Given the description of an element on the screen output the (x, y) to click on. 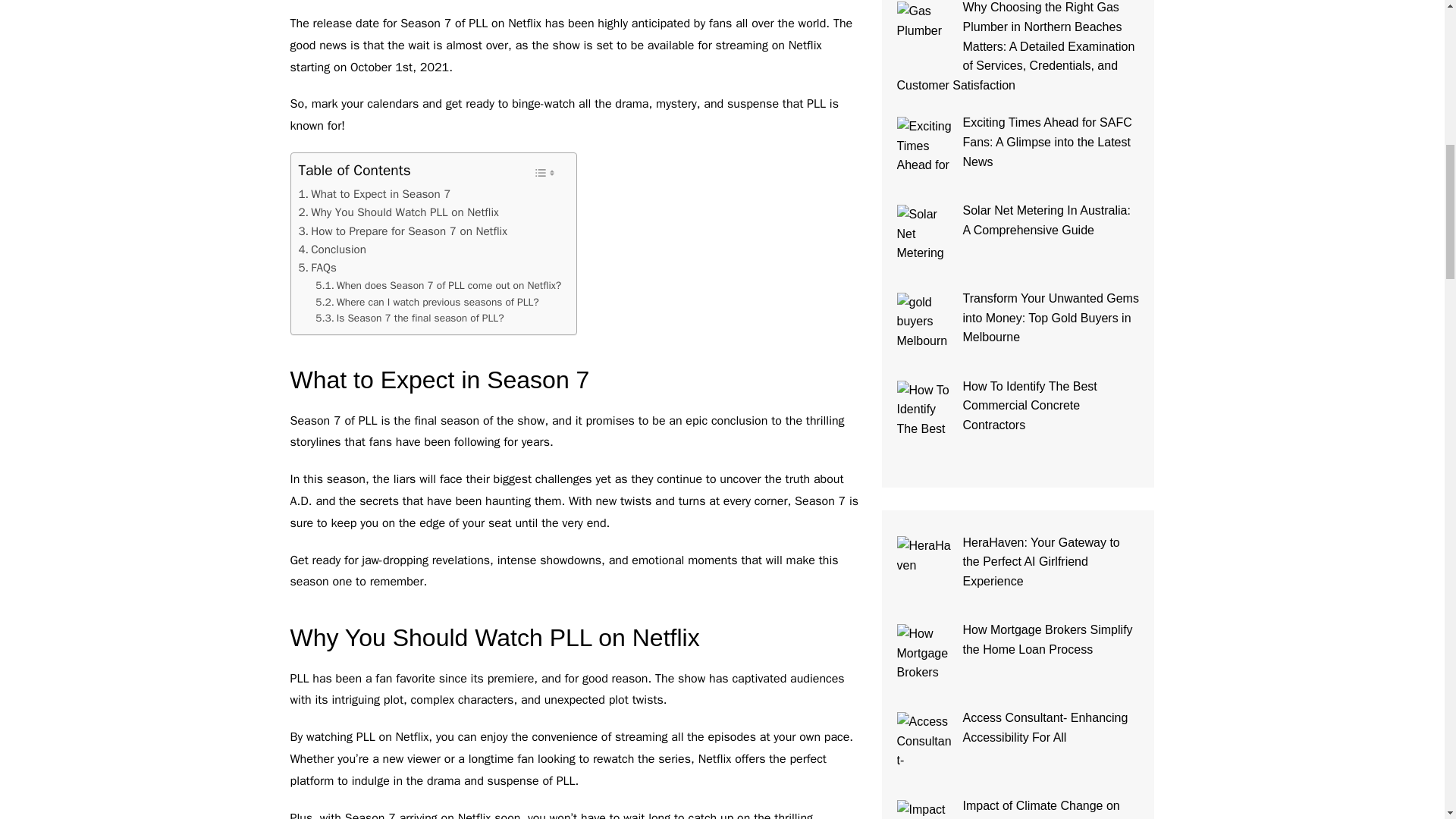
How to Prepare for Season 7 on Netflix (402, 230)
Is Season 7 the final season of PLL? (409, 318)
FAQs (317, 267)
Conclusion (332, 249)
FAQs (317, 267)
Where can I watch previous seasons of PLL? (426, 302)
Conclusion (332, 249)
Why You Should Watch PLL on Netflix (398, 212)
How to Prepare for Season 7 on Netflix (402, 230)
What to Expect in Season 7 (374, 194)
Is Season 7 the final season of PLL? (409, 318)
When does Season 7 of PLL come out on Netflix? (437, 285)
Why You Should Watch PLL on Netflix (398, 212)
What to Expect in Season 7 (374, 194)
Where can I watch previous seasons of PLL? (426, 302)
